Given the description of an element on the screen output the (x, y) to click on. 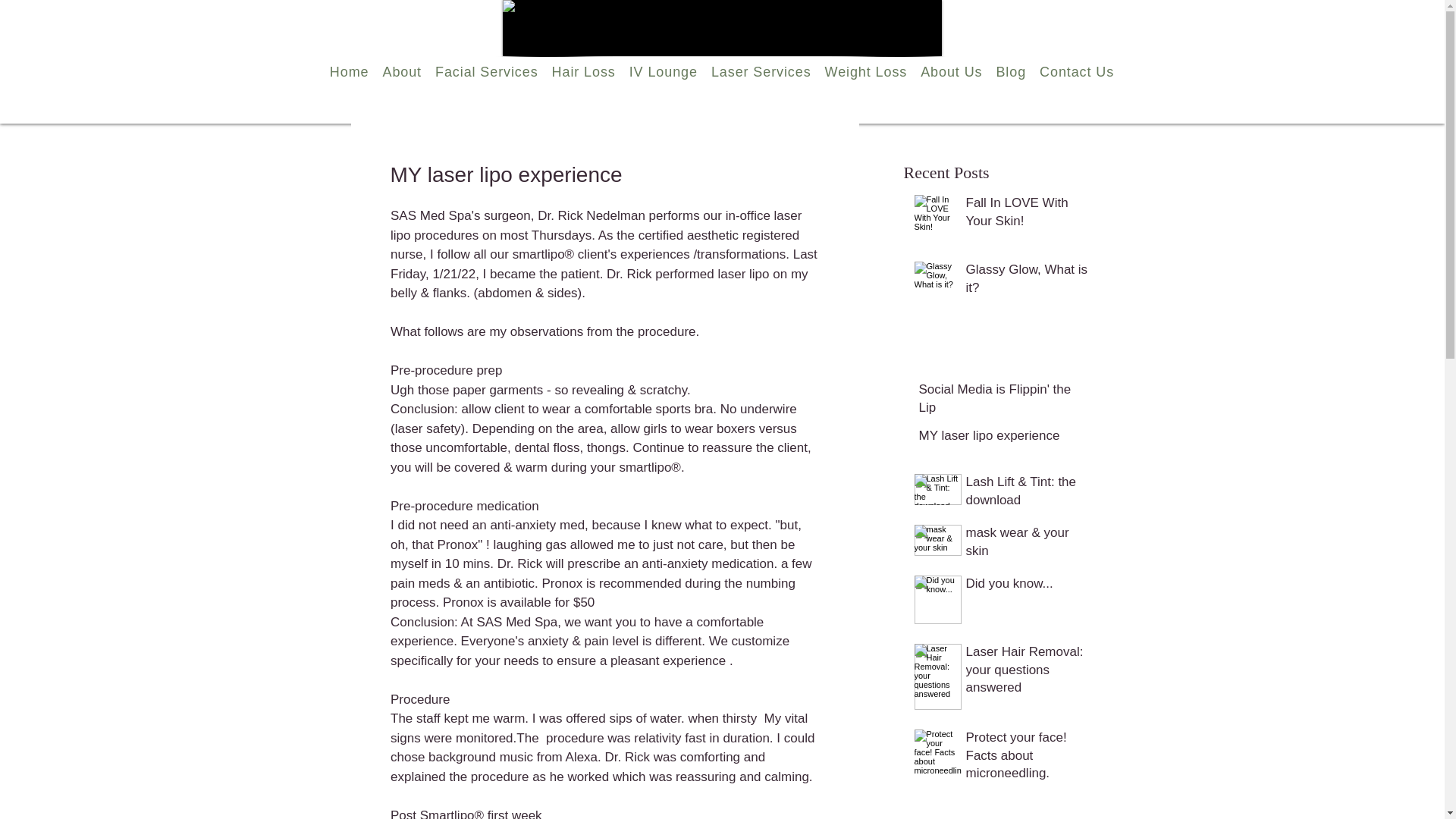
IV Lounge (663, 71)
Weight Loss (866, 71)
Contact Us (1076, 71)
Home (349, 71)
Blog (1010, 71)
About Us (951, 71)
Hair Loss (583, 71)
About (401, 71)
Facial Services (486, 71)
Laser Services (761, 71)
